Given the description of an element on the screen output the (x, y) to click on. 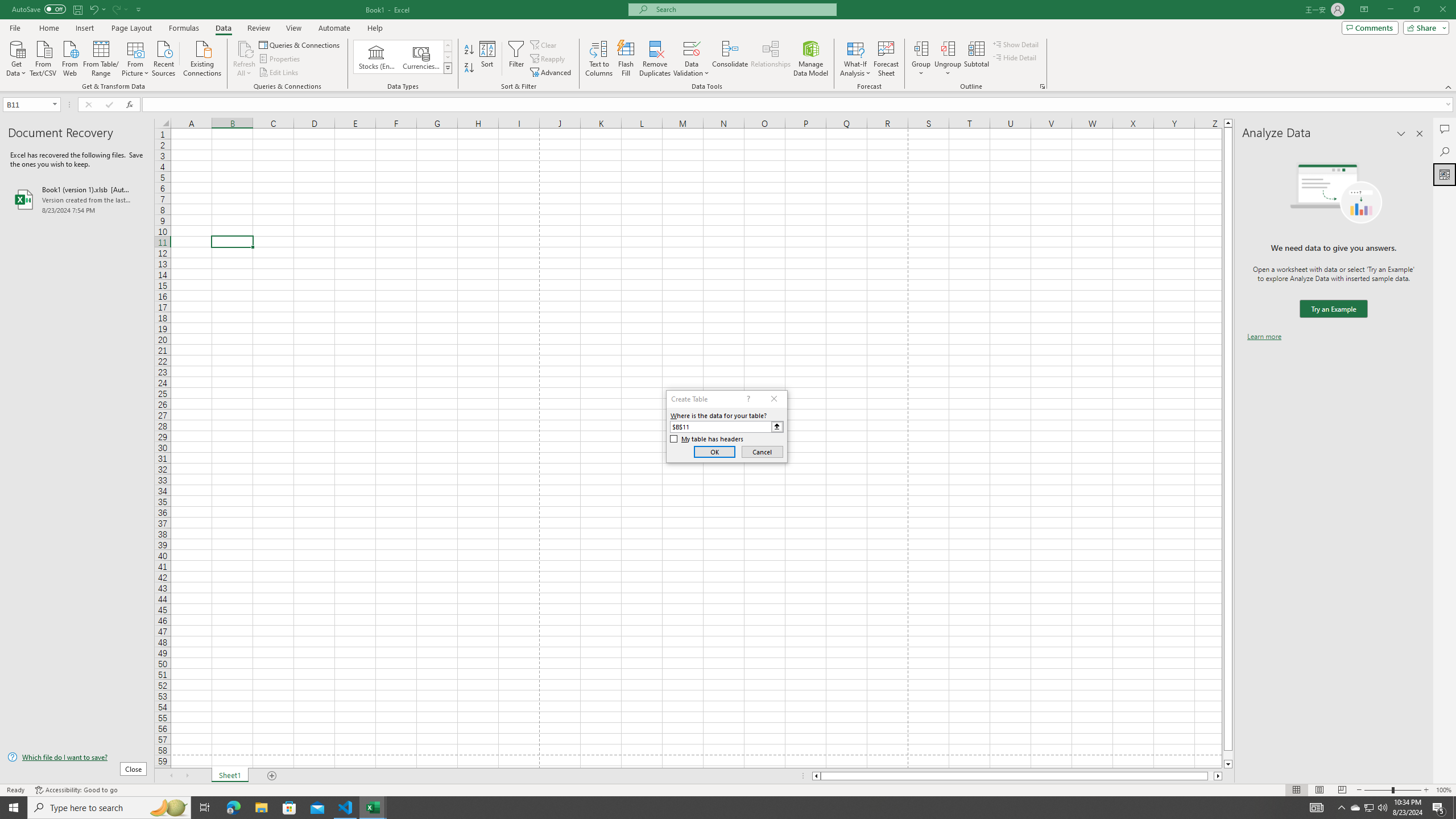
Sort Z to A (469, 67)
We need data to give you answers. Try an Example (1333, 308)
Line up (1228, 122)
From Table/Range (100, 57)
Class: NetUIScrollBar (1016, 775)
File Tab (15, 27)
Formula Bar (799, 104)
Filter (515, 58)
Zoom Out (1377, 790)
Normal (1296, 790)
Group and Outline Settings (1042, 85)
